Given the description of an element on the screen output the (x, y) to click on. 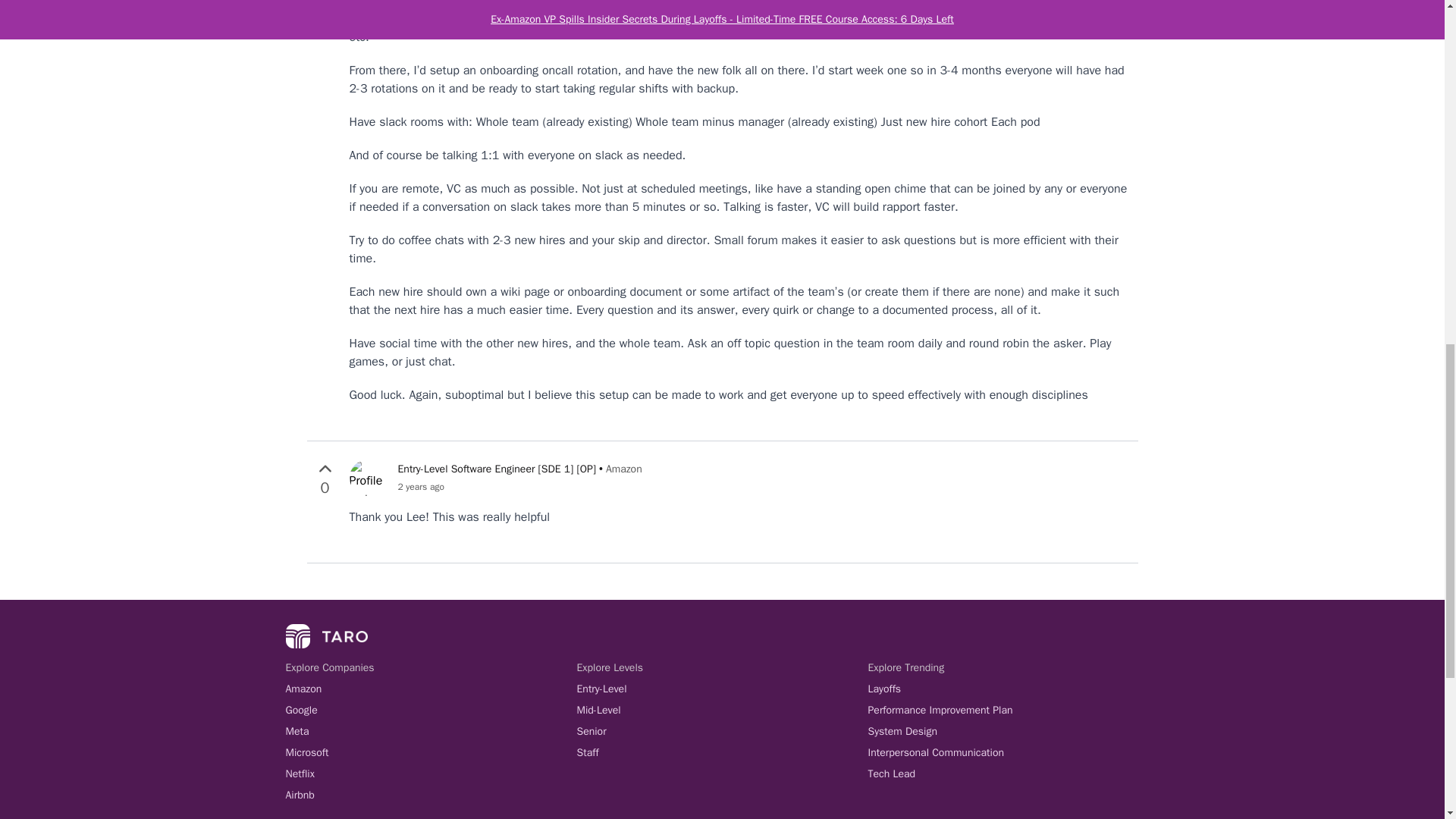
Mid-Level (721, 710)
Tech Lead (1012, 774)
System Design (1012, 731)
Interpersonal Communication (1012, 752)
Staff (721, 752)
Amazon (430, 688)
Thursday October 6, 6:30am (519, 486)
Microsoft (430, 752)
Entry-Level (721, 688)
Netflix (430, 774)
Google (430, 710)
Meta (430, 731)
Senior (721, 731)
Layoffs (1012, 688)
Airbnb (430, 795)
